Given the description of an element on the screen output the (x, y) to click on. 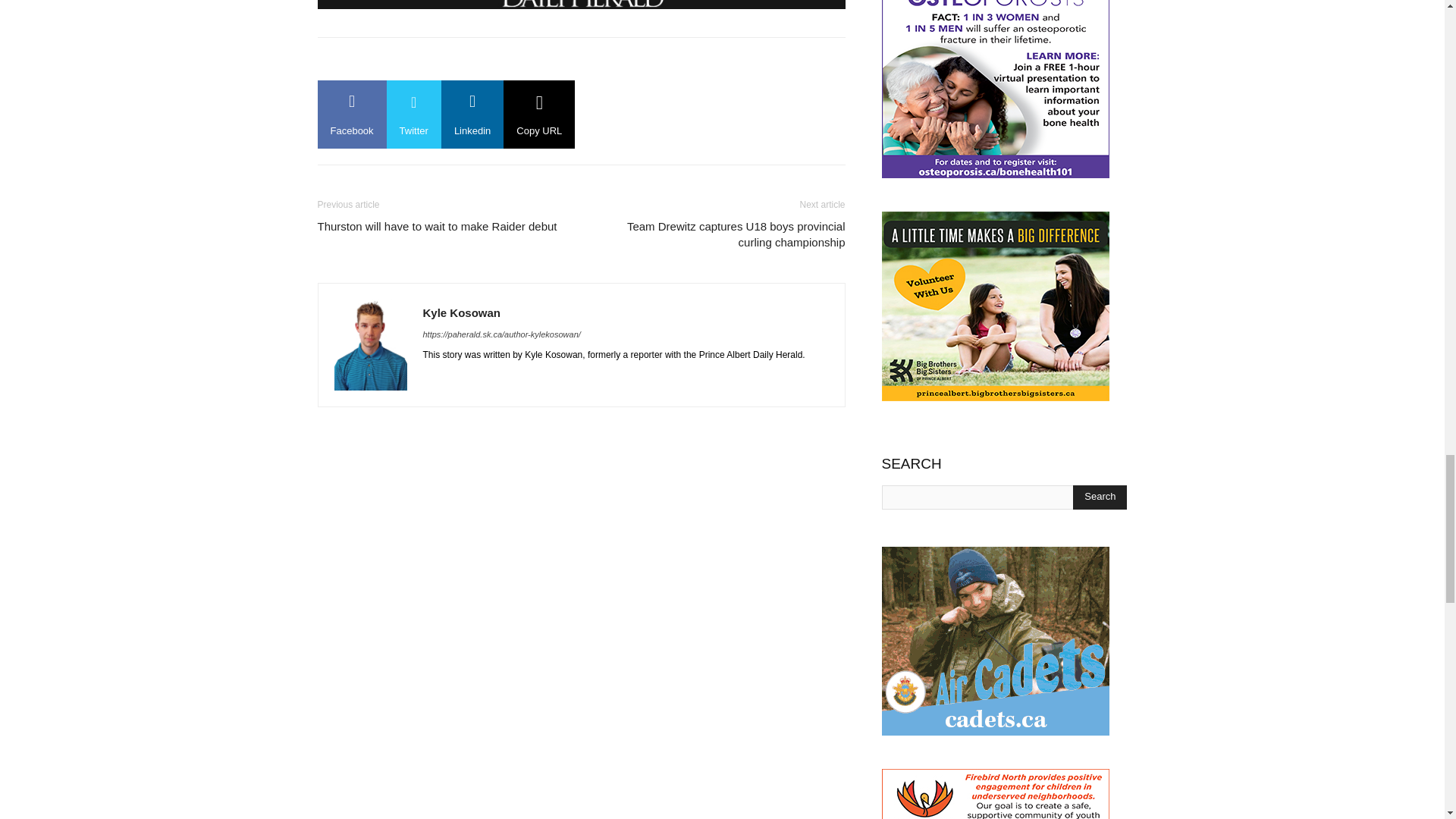
Search (1099, 497)
